Given the description of an element on the screen output the (x, y) to click on. 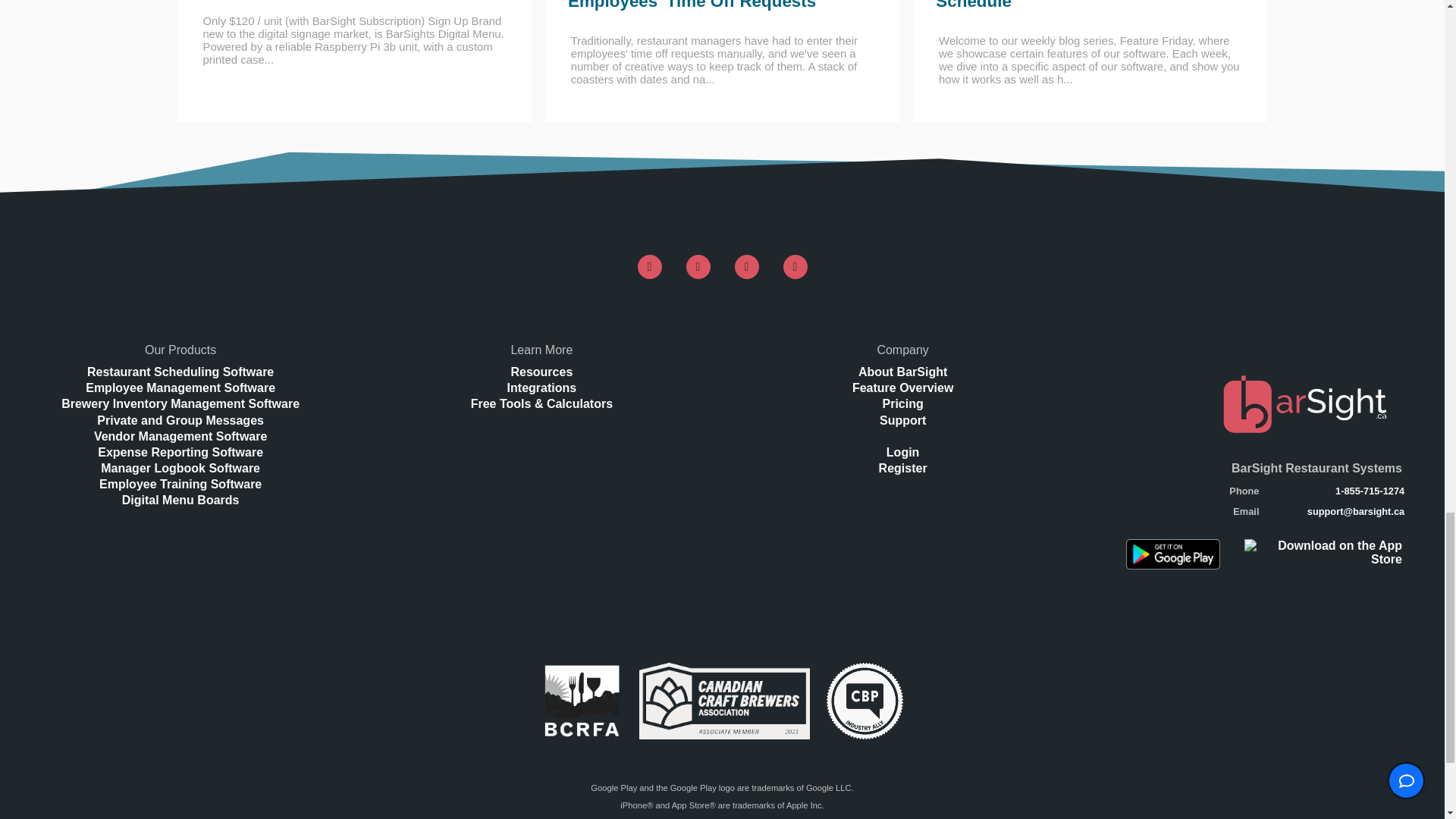
Member of Craft Beer Professionals (864, 700)
Member of Canadian Craft Brewers Association (724, 700)
Member of BC Restaurant and Food Services Association (582, 700)
